Given the description of an element on the screen output the (x, y) to click on. 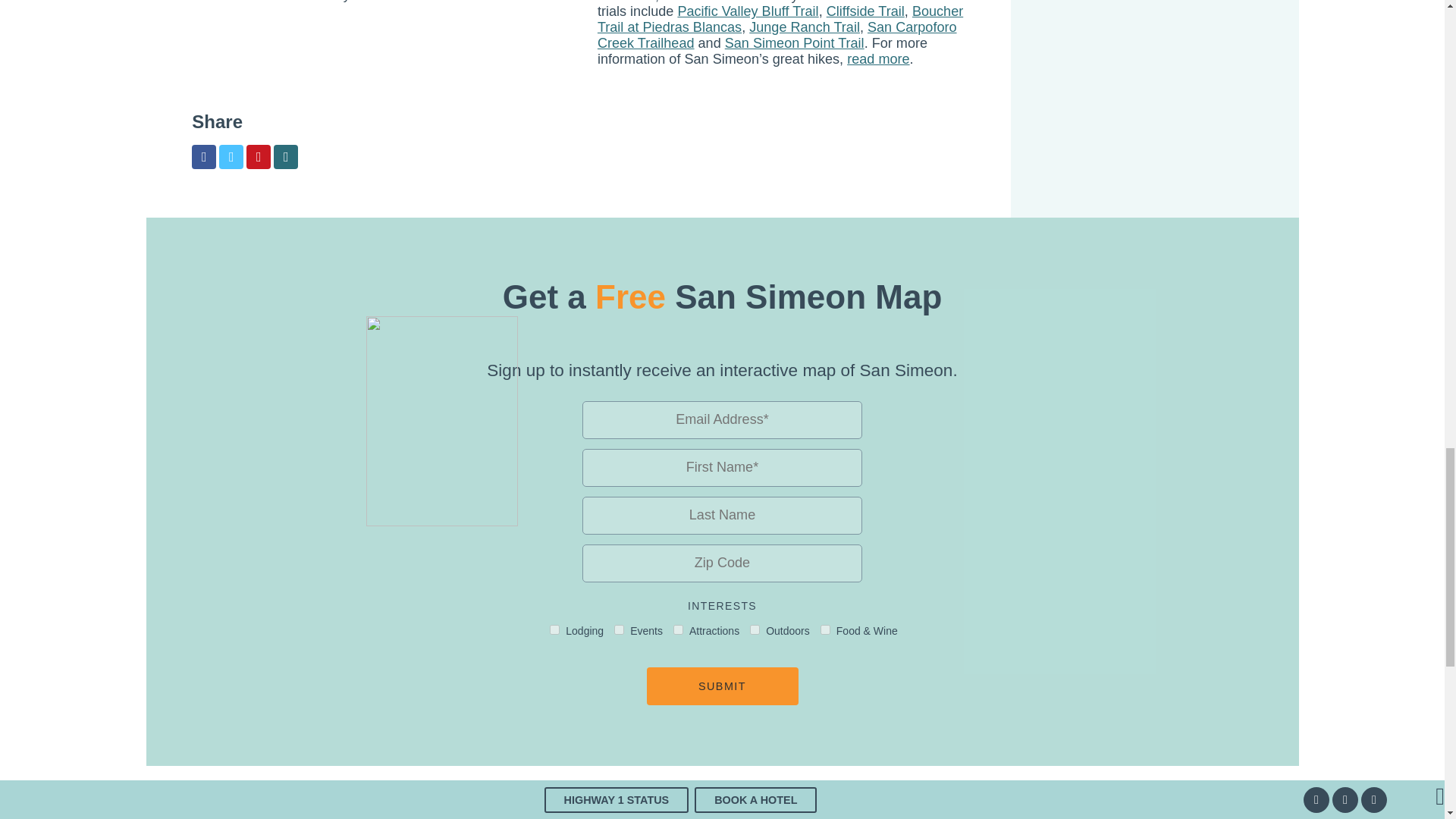
Lodging (554, 629)
Share on Facebook (203, 156)
Pacific Valley Bluff Trail (747, 11)
Share on Pinterest (258, 156)
Cliffside Trail (865, 11)
Attractions (677, 629)
San Carpoforo Creek Trailhead (776, 34)
Share on Twitter (231, 156)
read more (877, 58)
SUBMIT (721, 686)
